Given the description of an element on the screen output the (x, y) to click on. 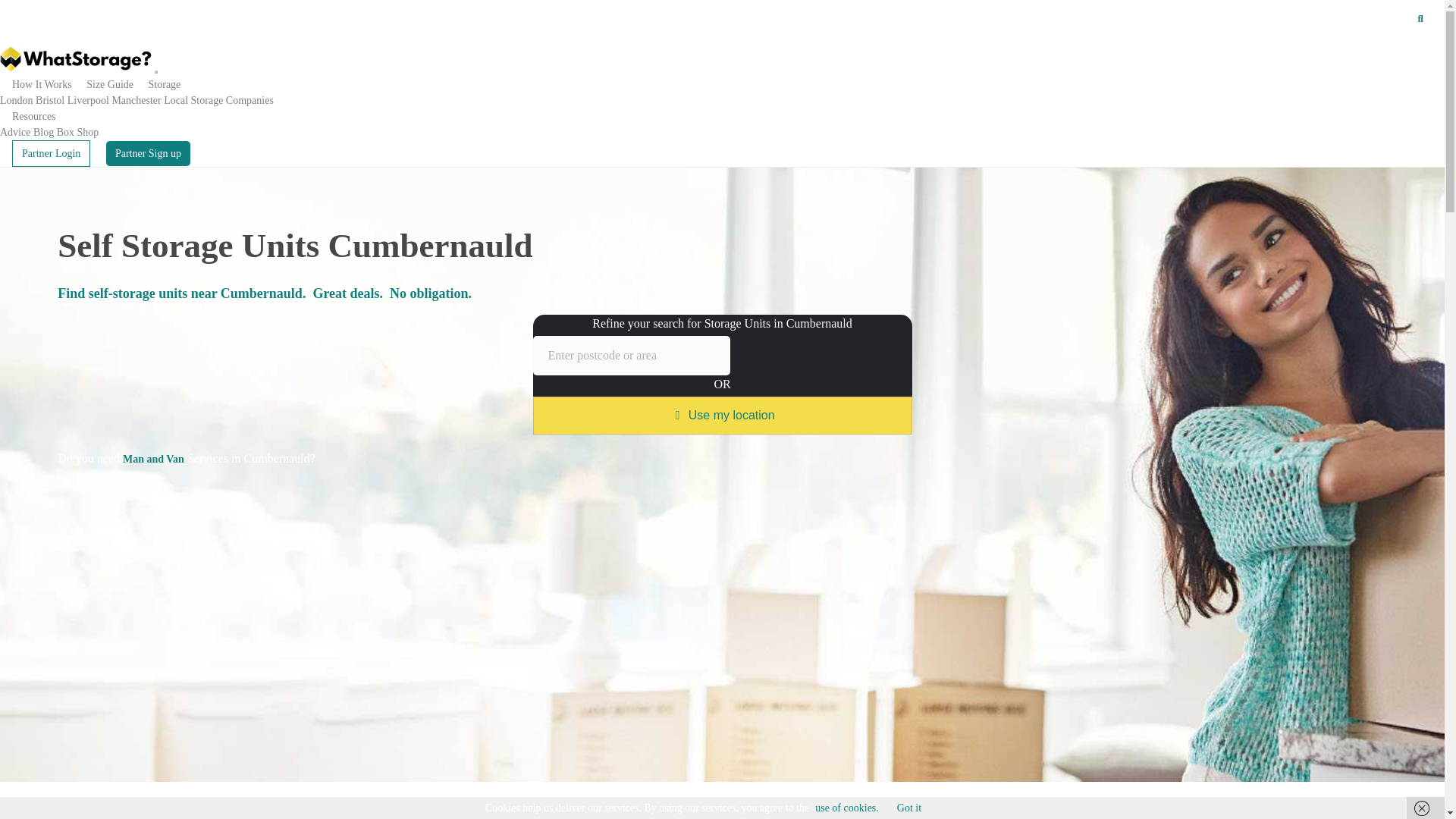
Bristol (49, 100)
Use my location (721, 415)
Size Guide (109, 84)
How It Works (41, 84)
Partner Login (50, 153)
London (16, 100)
1 storage facilities in  Cumbernauld  (543, 809)
Resources (33, 116)
Man and Van (153, 459)
Box Shop (77, 132)
Local Storage Companies (218, 100)
Advice Blog (26, 132)
Storage (164, 84)
Manchester (136, 100)
Liverpool (87, 100)
